Given the description of an element on the screen output the (x, y) to click on. 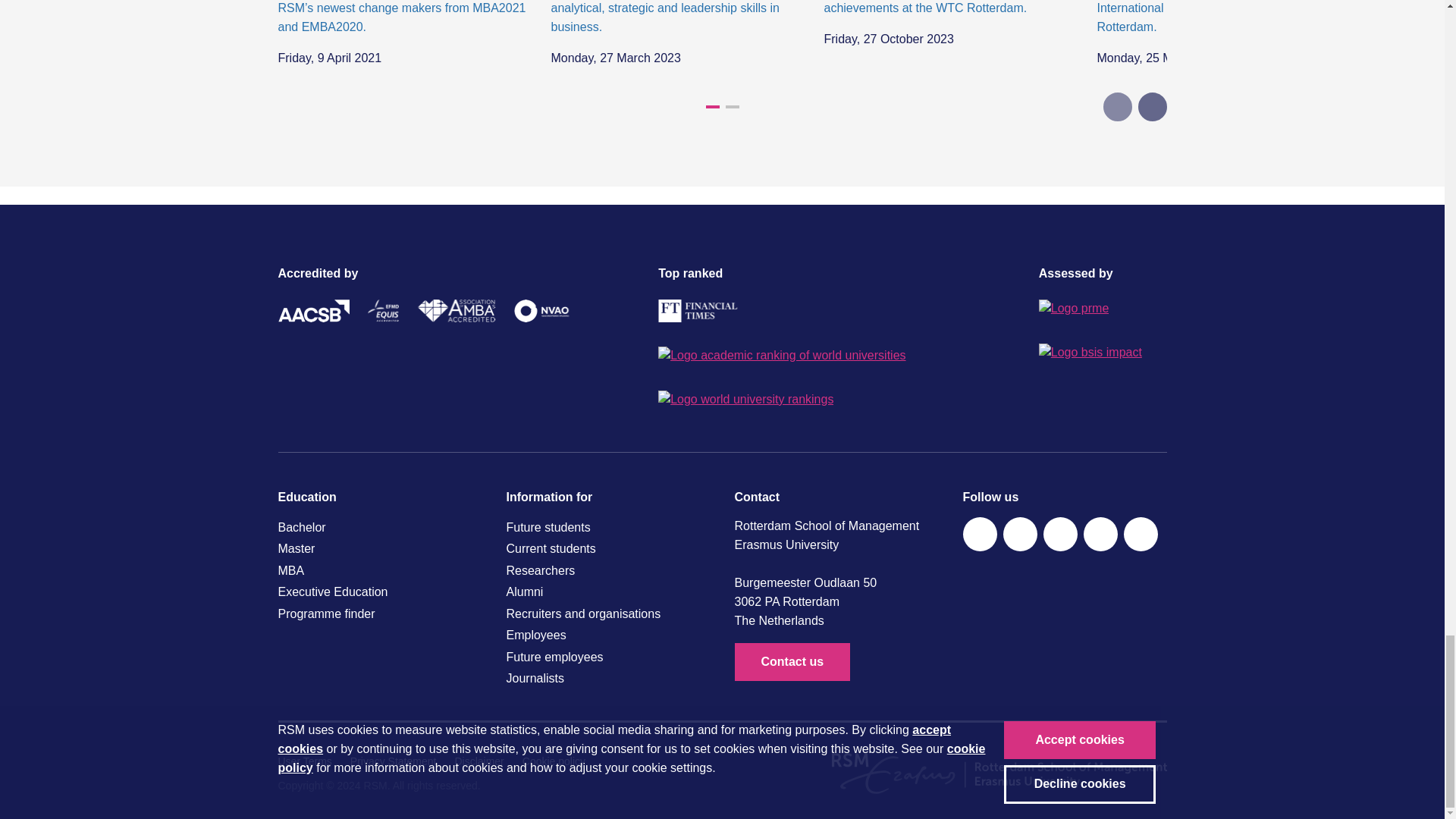
Master (379, 548)
Executive Education (379, 591)
Bachelor (379, 527)
MBA (379, 570)
Programme finder (379, 613)
